Given the description of an element on the screen output the (x, y) to click on. 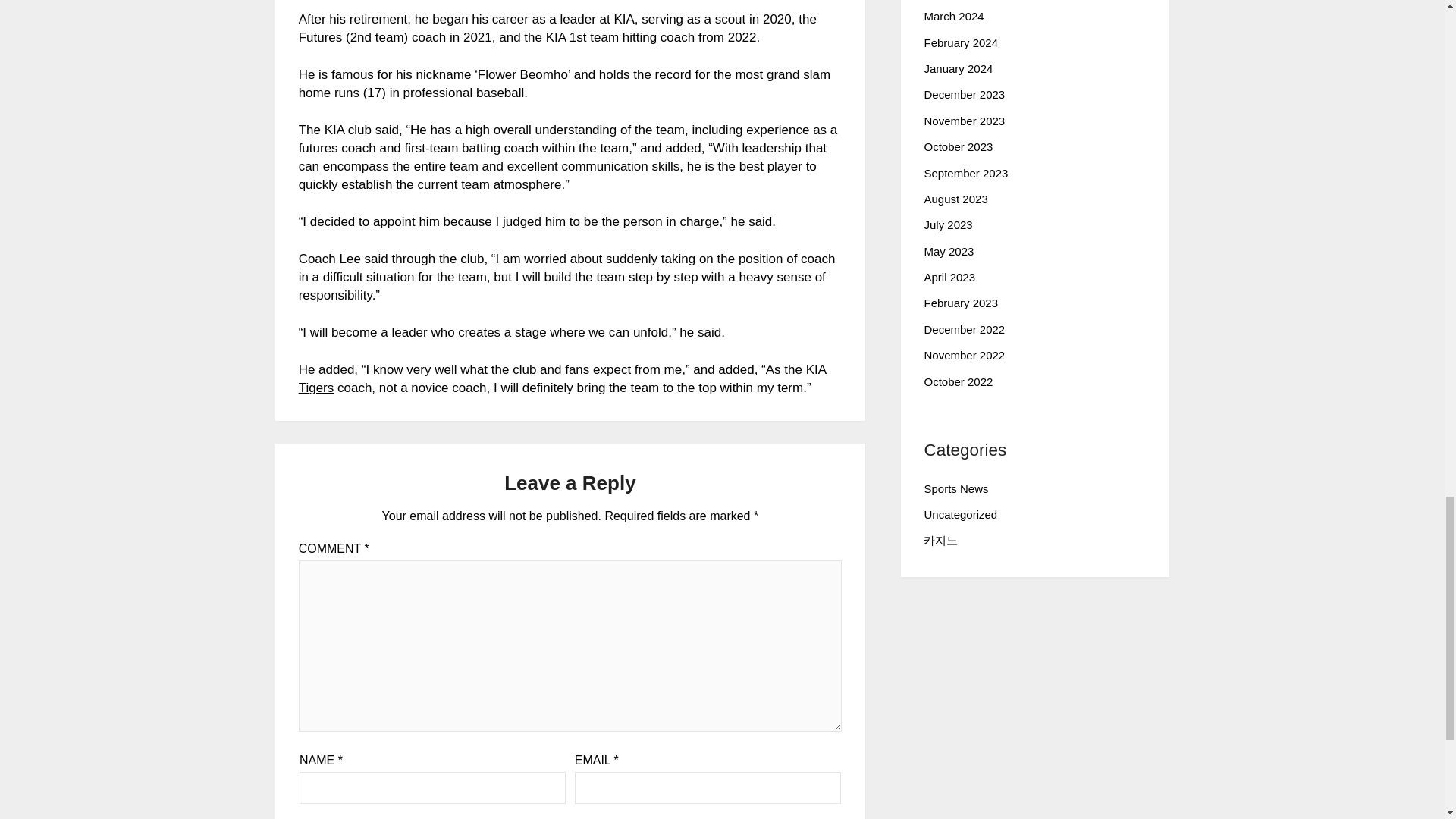
September 2023 (965, 173)
January 2024 (957, 68)
December 2023 (963, 93)
KIA Tigers (562, 378)
November 2023 (963, 120)
October 2023 (957, 146)
February 2024 (960, 42)
March 2024 (953, 15)
